Given the description of an element on the screen output the (x, y) to click on. 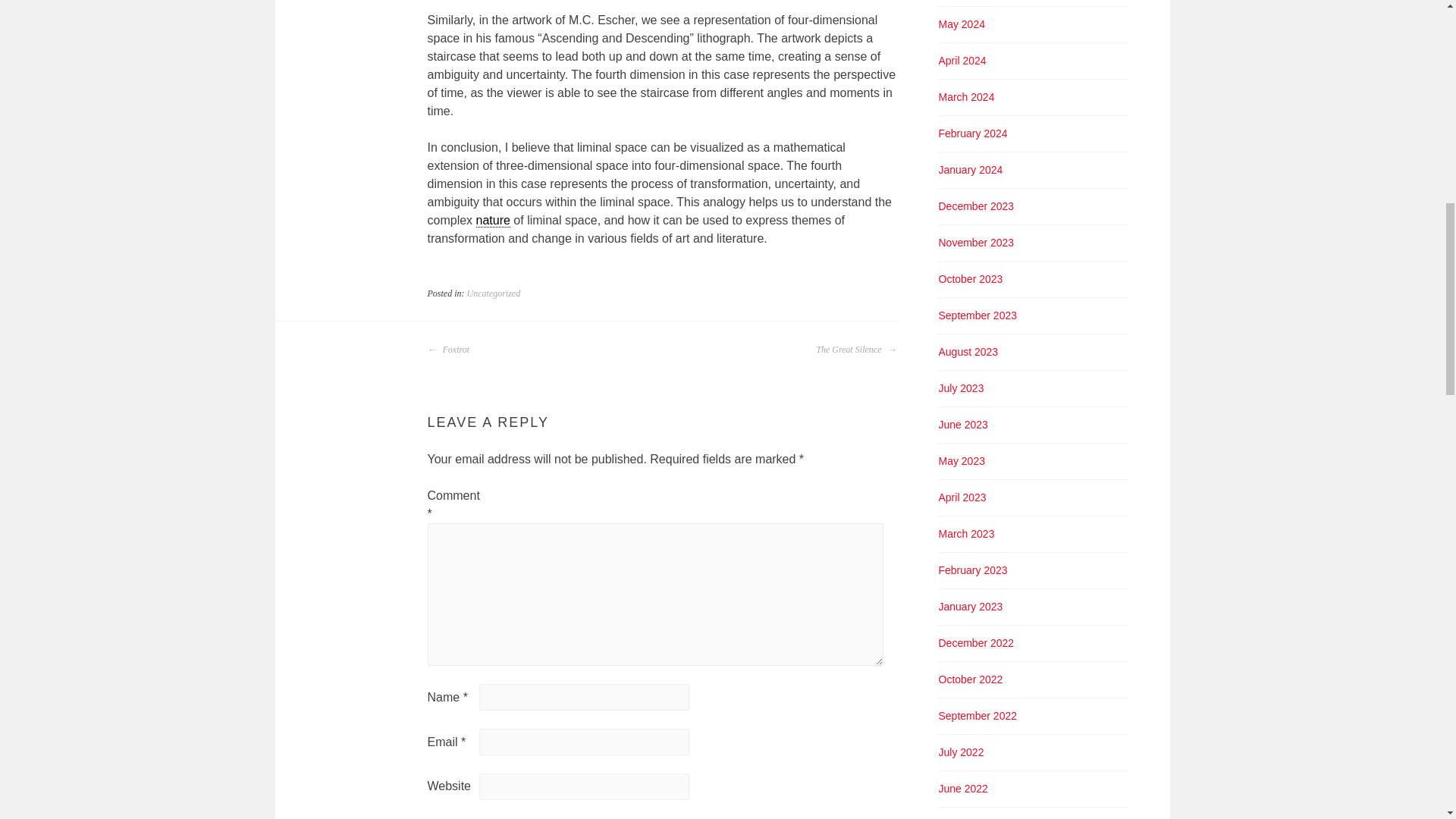
Uncategorized (494, 293)
nature (493, 220)
March 2024 (966, 96)
February 2024 (973, 133)
December 2023 (976, 205)
May 2024 (962, 24)
 Foxtrot (449, 349)
The Great Silence  (855, 349)
January 2024 (971, 169)
April 2024 (963, 60)
